Given the description of an element on the screen output the (x, y) to click on. 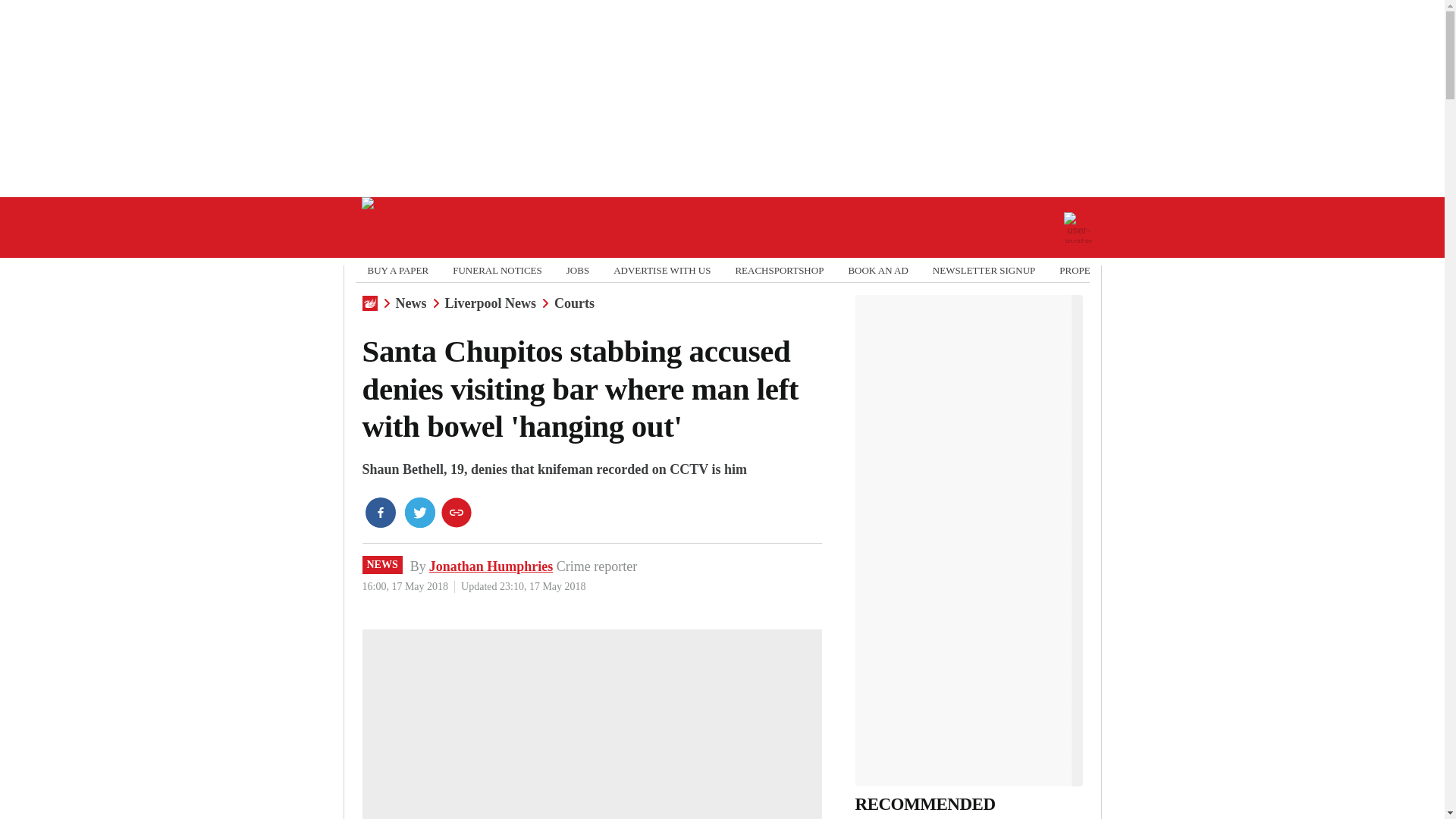
JOBS (577, 270)
PROPERTY (1084, 270)
BOOK AN AD (877, 270)
avatar (1077, 227)
Liverpool News (489, 303)
Jonathan Humphries (491, 566)
News (411, 303)
NEWS (382, 565)
REACHSPORTSHOP (779, 270)
Courts (574, 303)
